Given the description of an element on the screen output the (x, y) to click on. 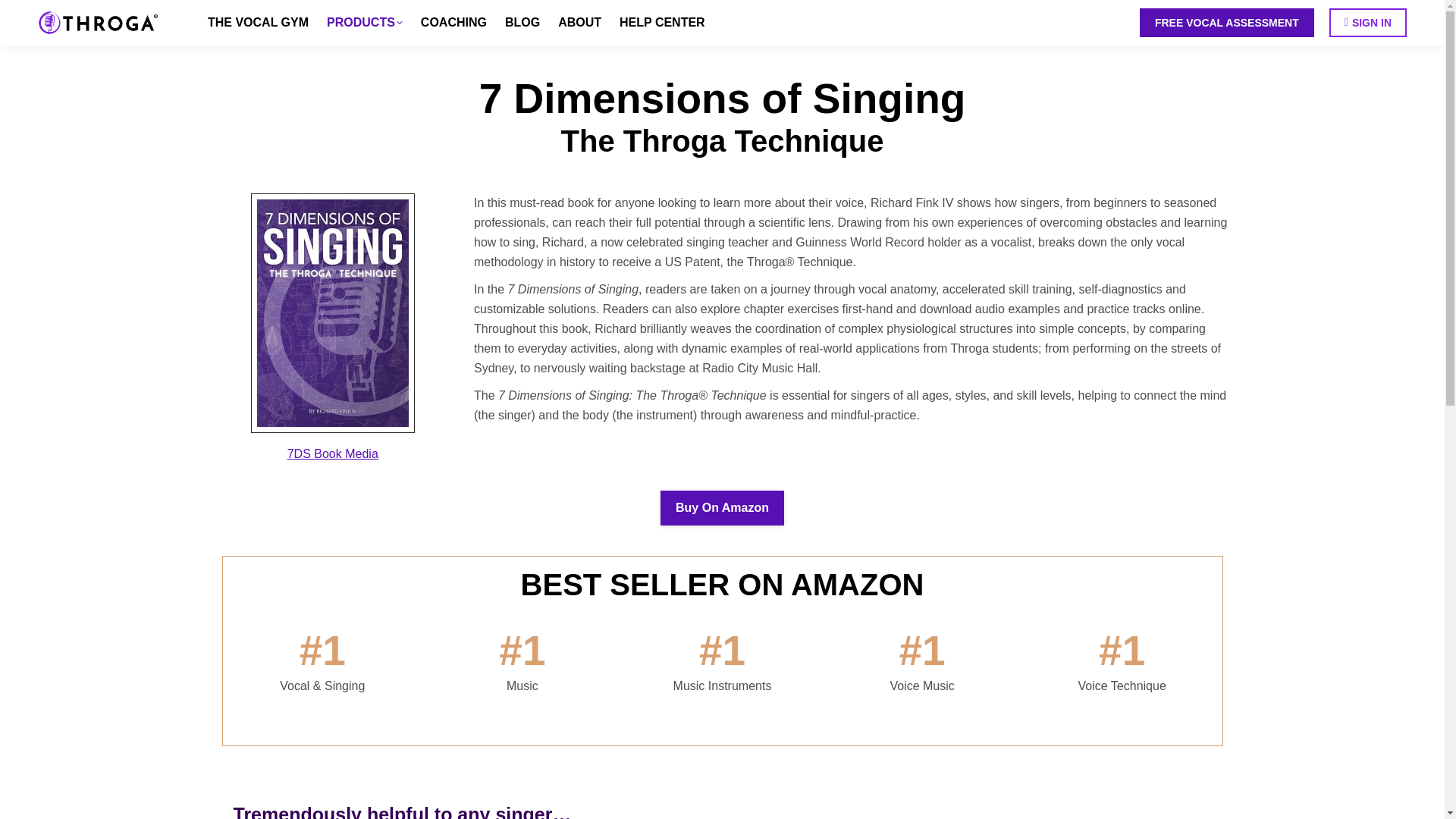
ABOUT (579, 22)
PRODUCTS (364, 22)
Buy On Amazon (722, 507)
BLOG (522, 22)
SIGN IN (1367, 22)
HELP CENTER (661, 22)
7DS Book Media (332, 453)
COACHING (453, 22)
FREE VOCAL ASSESSMENT (1227, 22)
THE VOCAL GYM (258, 22)
